Given the description of an element on the screen output the (x, y) to click on. 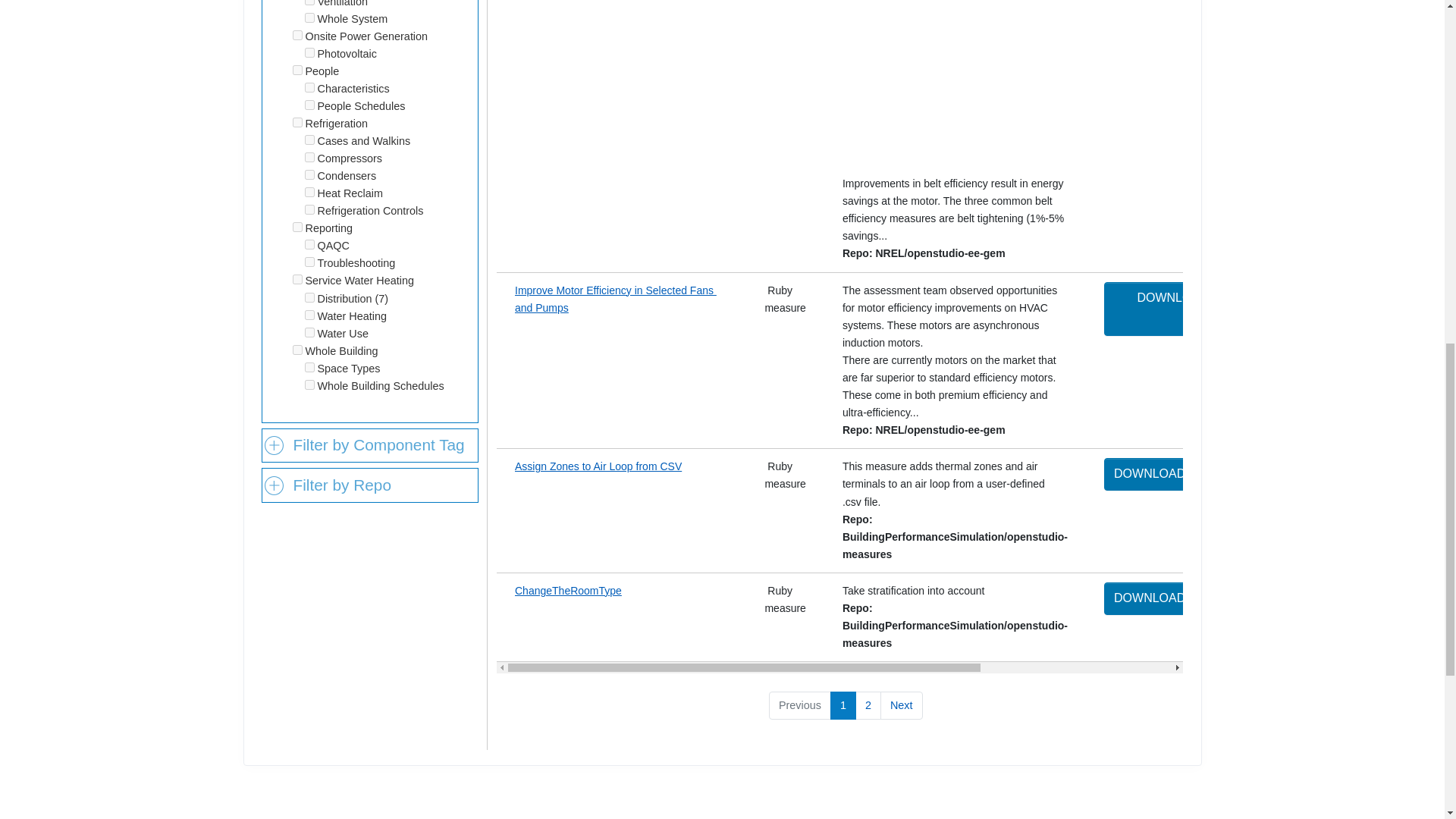
DOWNLOAD IMPROVE MOTOR EFFICIENCY IN SELECTED FANS AND PUMPS (1272, 308)
DOWNLOAD CHANGETHEROOMTYPE (1223, 598)
Assign Zones to Air Loop from CSV (598, 466)
Improve Motor Efficiency in Selected Fans and Pumps (615, 297)
DOWNLOAD ASSIGN ZONES TO AIR LOOP FROM CSV (1269, 473)
Filter by Component Tag (370, 445)
ChangeTheRoomType (568, 590)
Filter by Repo (370, 485)
